Given the description of an element on the screen output the (x, y) to click on. 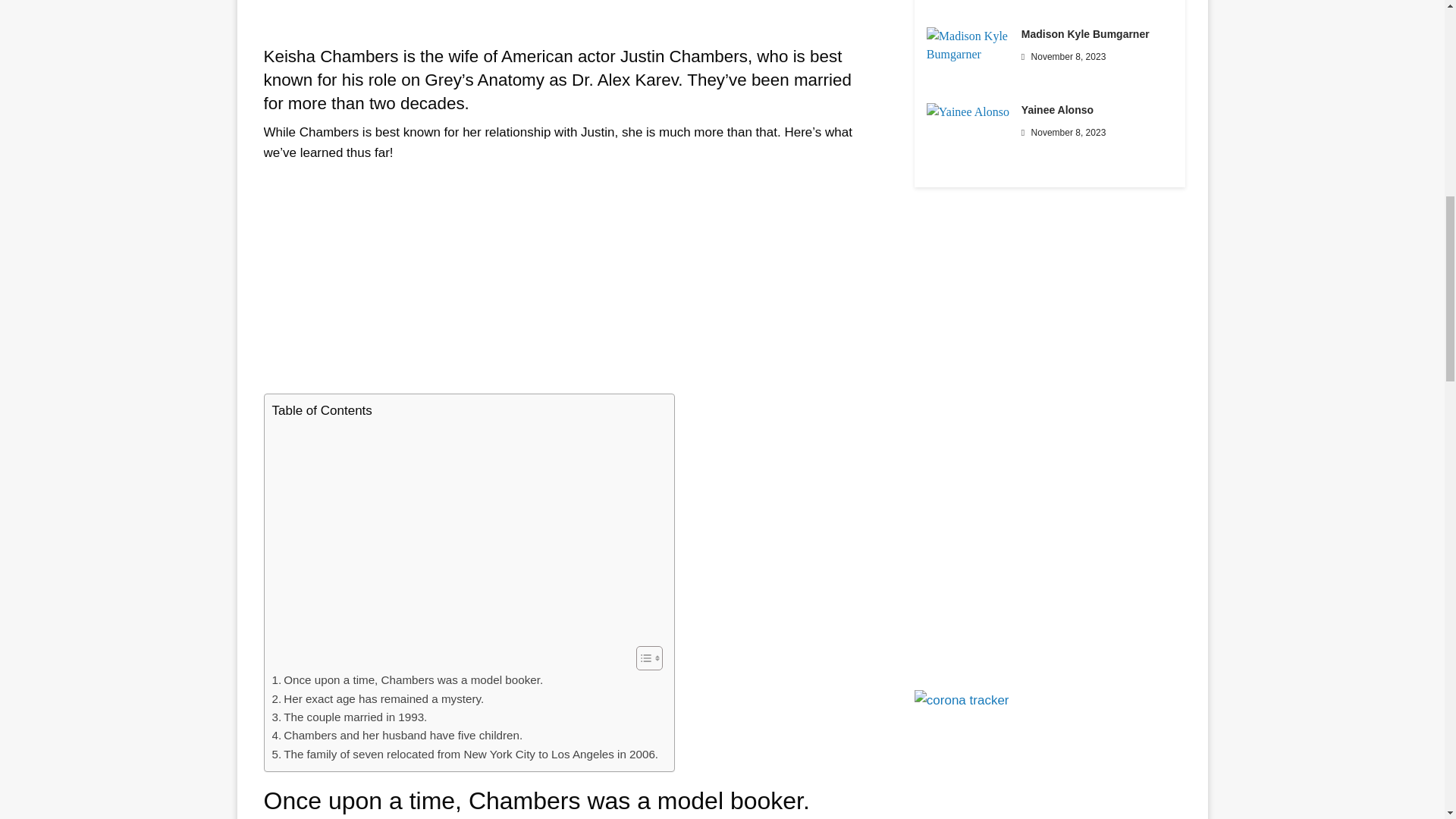
The couple married in 1993. (348, 717)
Her exact age has remained a mystery. (376, 699)
Chambers and her husband have five children. (396, 735)
Once upon a time, Chambers was a model booker. (406, 679)
Her exact age has remained a mystery. (376, 699)
Once upon a time, Chambers was a model booker. (406, 679)
The couple married in 1993. (348, 717)
Chambers and her husband have five children. (396, 735)
